Given the description of an element on the screen output the (x, y) to click on. 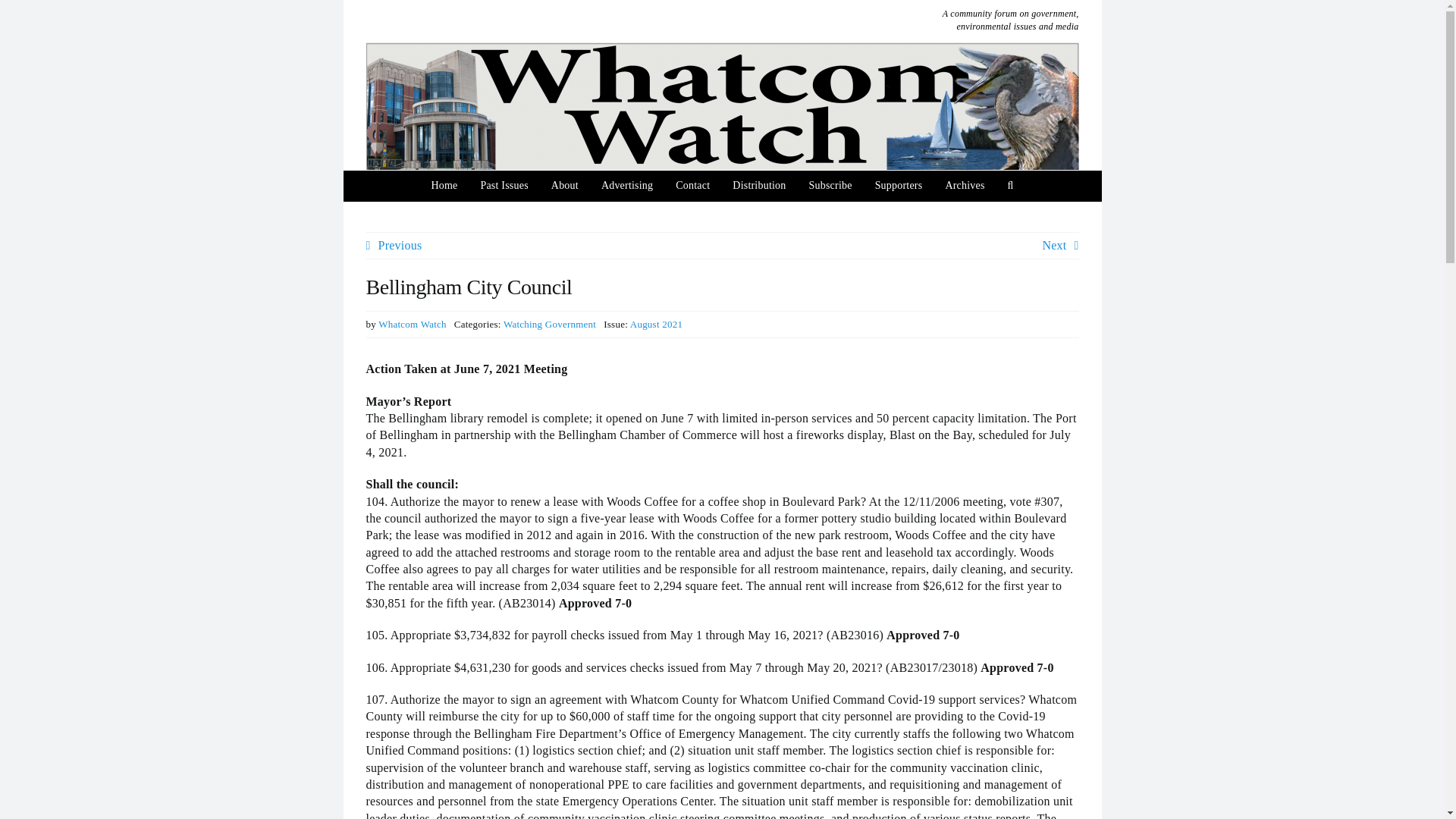
Archives (964, 185)
Distribution (759, 185)
About (564, 185)
Posts by Whatcom Watch (412, 324)
Advertising (626, 185)
Supporters (899, 185)
Contact (692, 185)
Past Issues (503, 185)
Subscribe (830, 185)
